Given the description of an element on the screen output the (x, y) to click on. 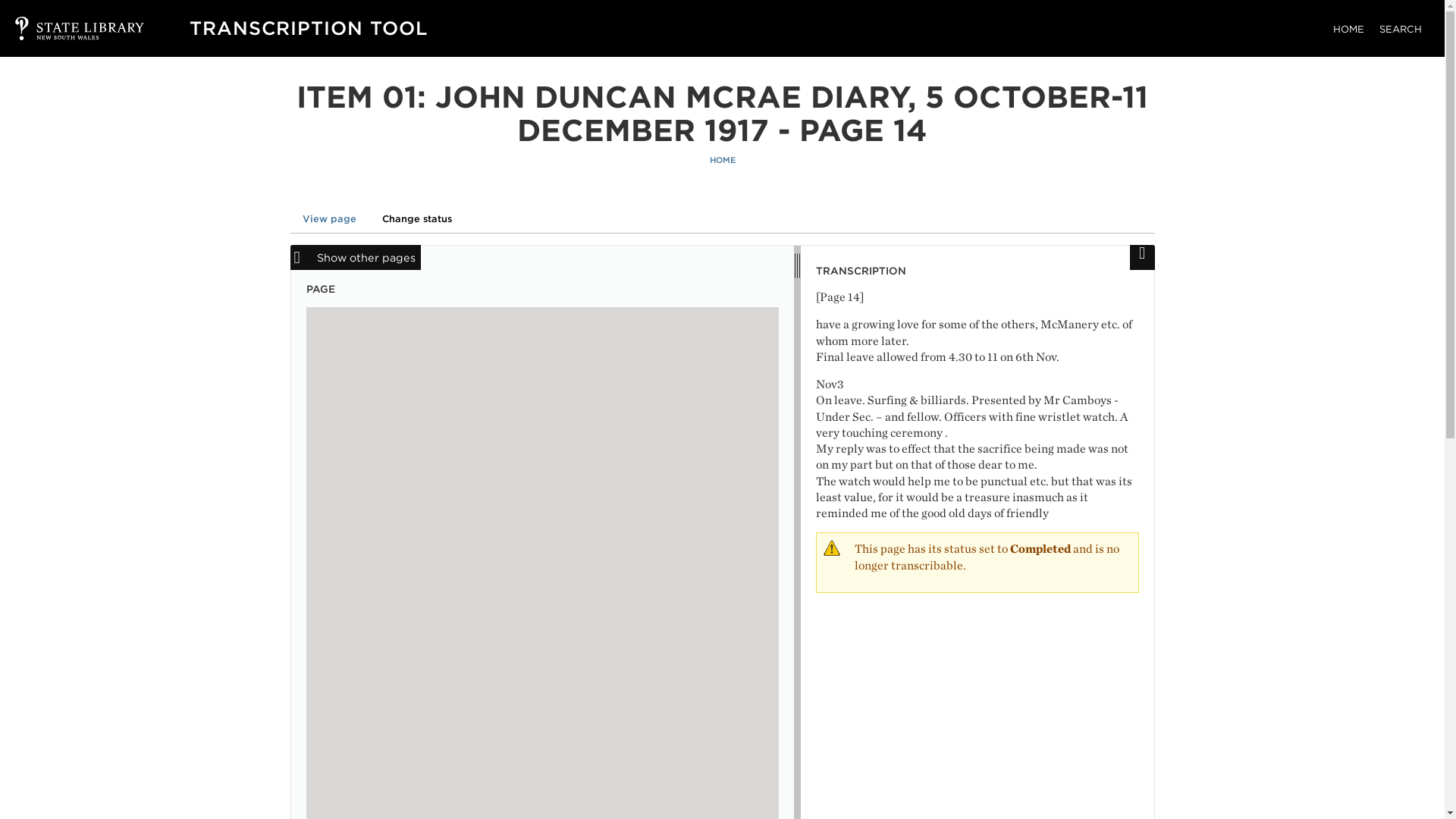
SEARCH (1400, 29)
HOME (722, 160)
Home (308, 27)
TRANSCRIPTION TOOL (308, 27)
View page (328, 218)
Change status (416, 218)
State Library of NSW (64, 28)
HOME (1348, 29)
